Given the description of an element on the screen output the (x, y) to click on. 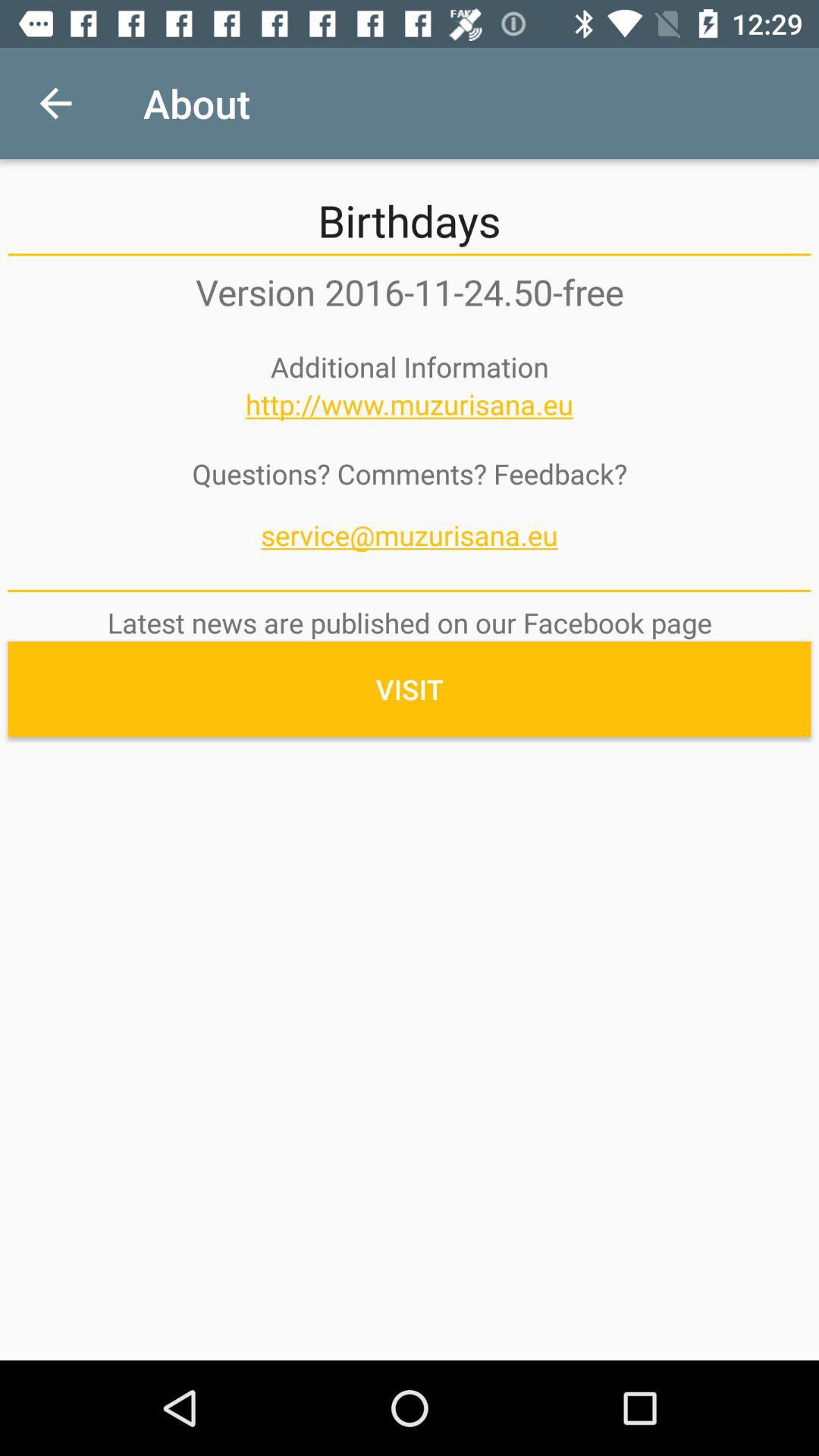
choose item next to the about icon (55, 103)
